Given the description of an element on the screen output the (x, y) to click on. 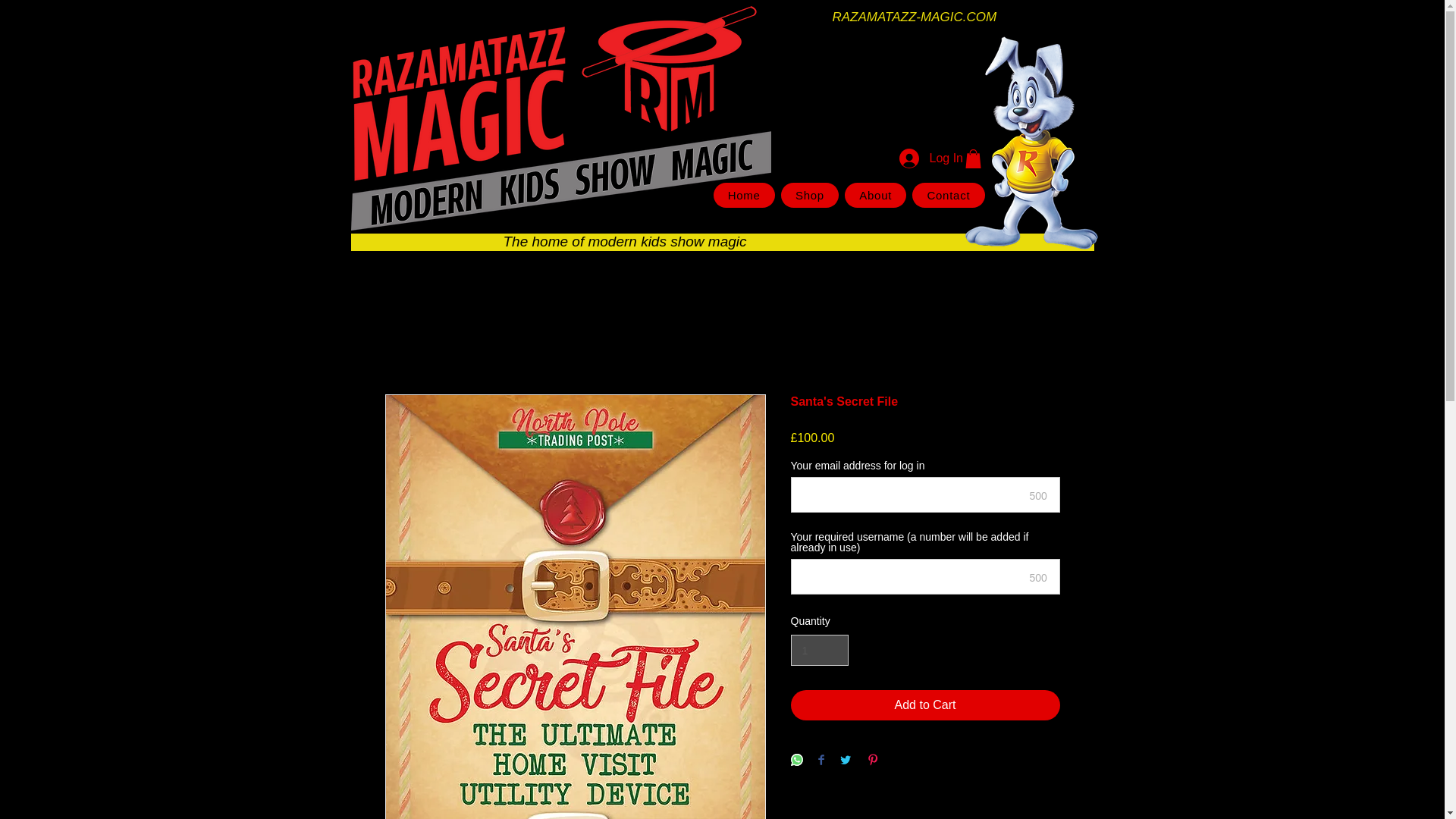
About (874, 195)
Shop (809, 195)
Add to Cart (924, 705)
Home (743, 195)
1 (818, 649)
Log In (918, 158)
Contact (948, 195)
